Given the description of an element on the screen output the (x, y) to click on. 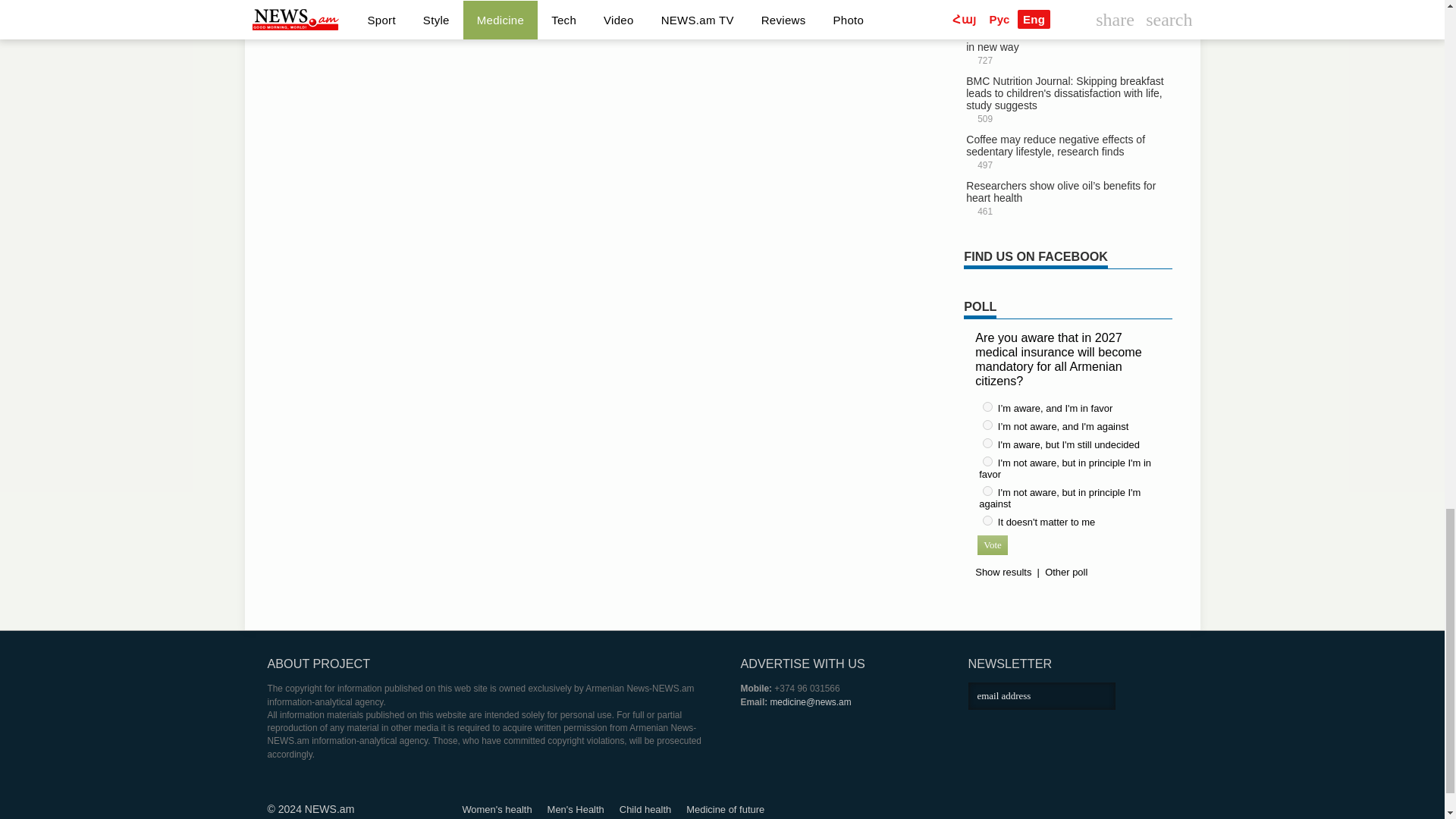
Vote (991, 545)
